Given the description of an element on the screen output the (x, y) to click on. 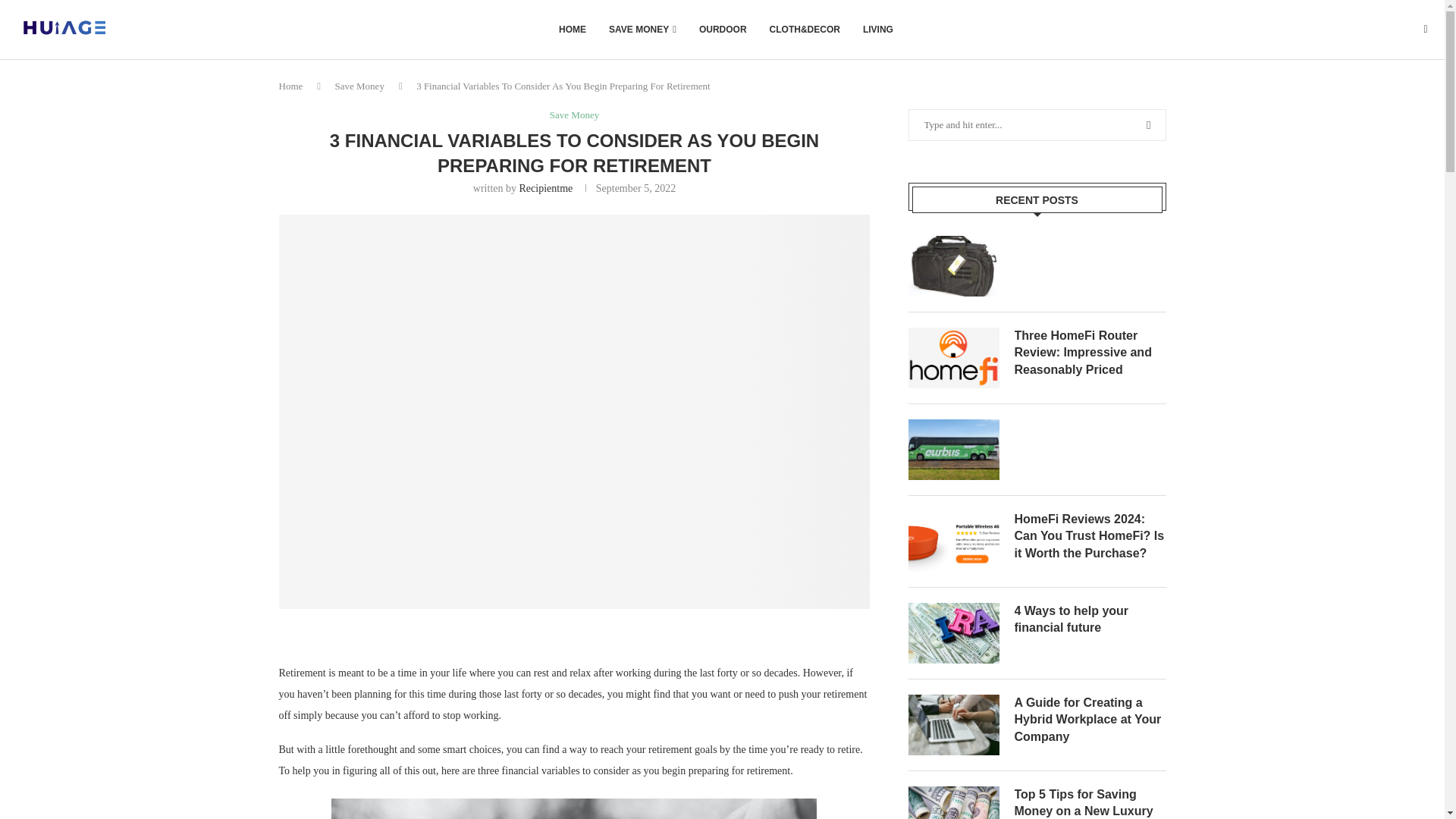
Home (290, 85)
OURDOOR (722, 29)
Save Money (359, 85)
SAVE MONEY (642, 29)
Save Money (574, 114)
Recipientme (545, 188)
